Given the description of an element on the screen output the (x, y) to click on. 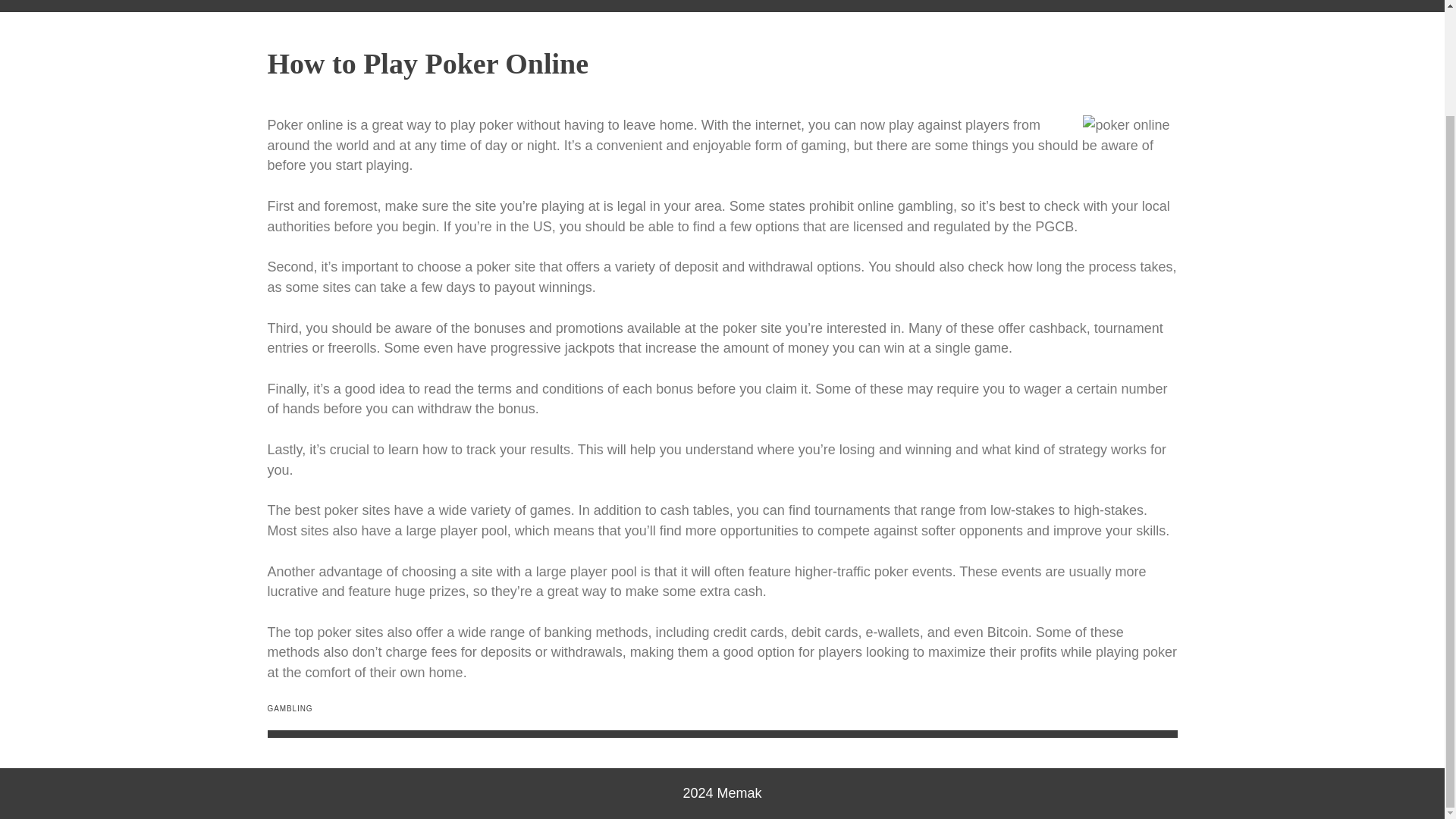
GAMBLING (289, 708)
